Given the description of an element on the screen output the (x, y) to click on. 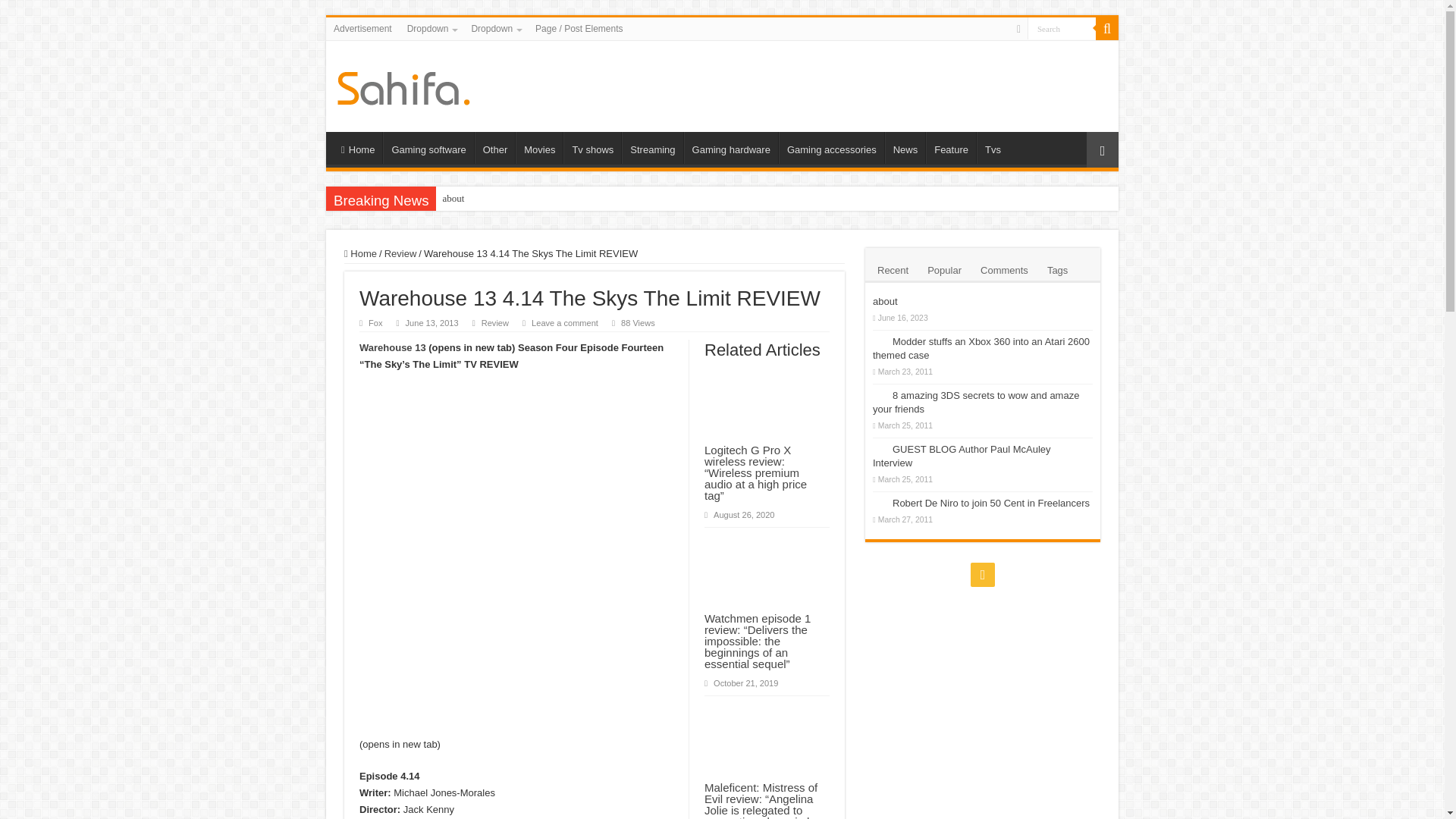
Game News (403, 85)
News (905, 147)
Search (1061, 28)
Dropdown (431, 28)
about (628, 198)
Other (494, 147)
about (628, 198)
Home (357, 147)
Search (1061, 28)
Streaming (651, 147)
